Given the description of an element on the screen output the (x, y) to click on. 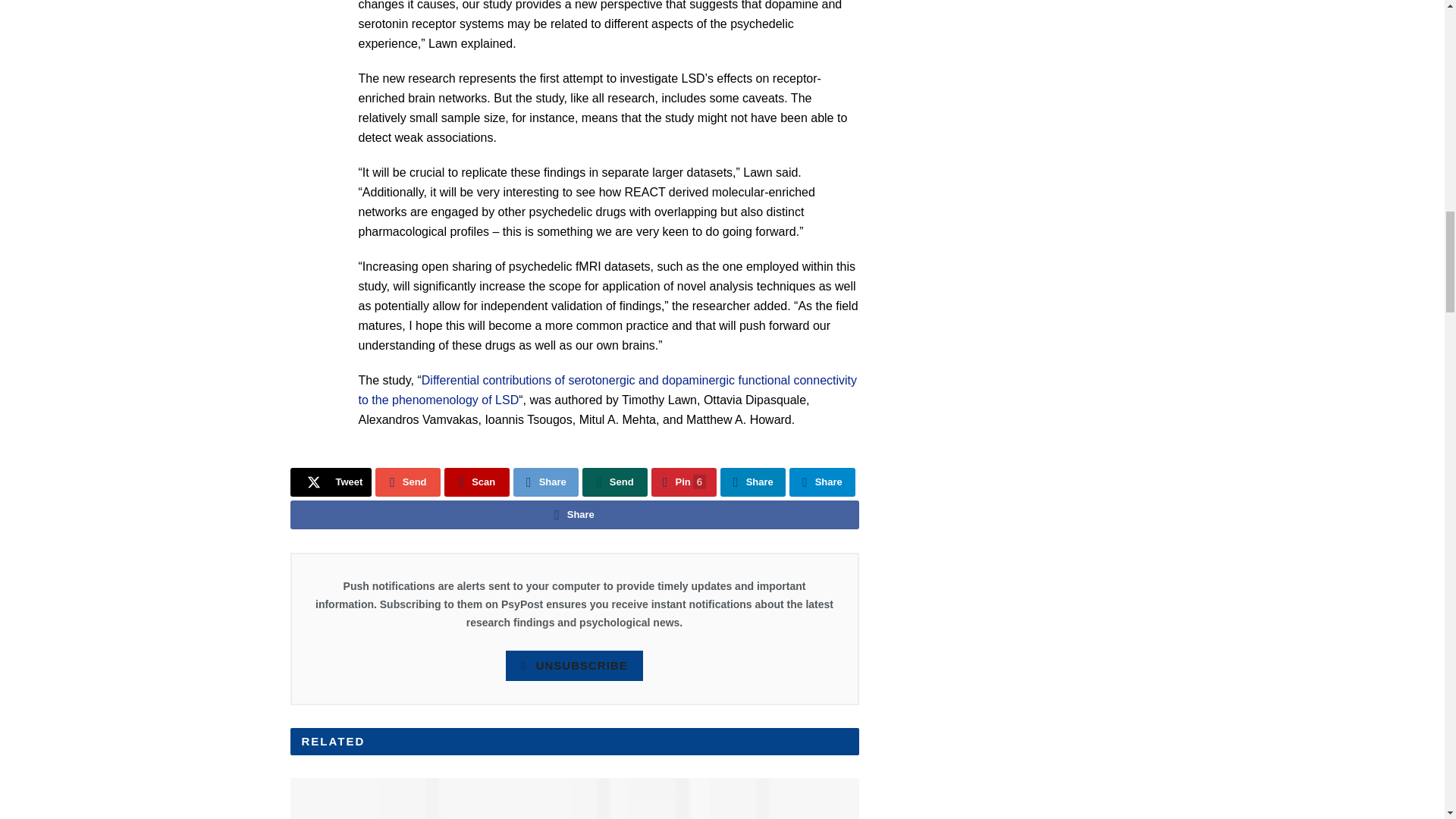
Tweet (330, 481)
